Given the description of an element on the screen output the (x, y) to click on. 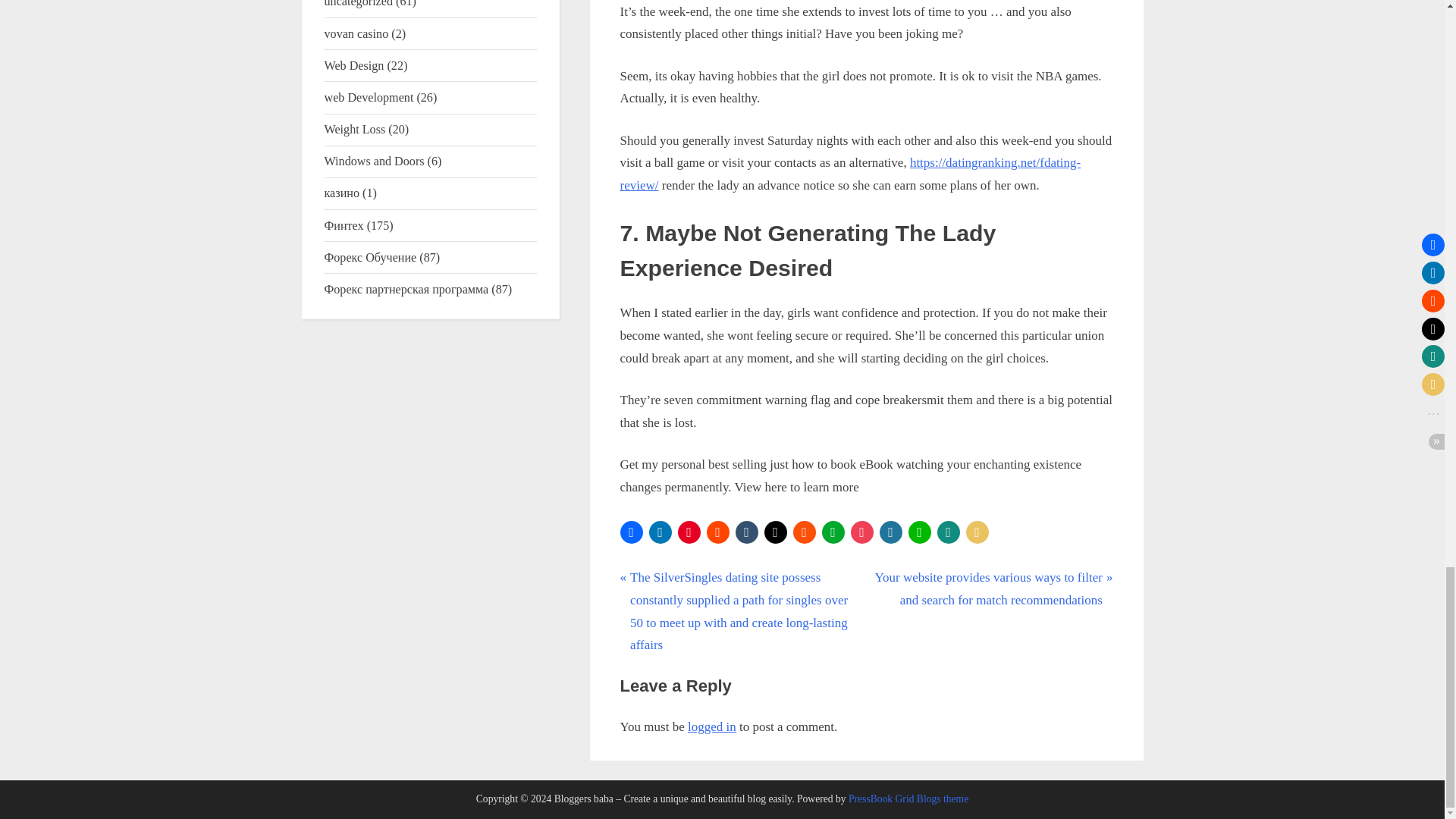
logged in (711, 726)
